Given the description of an element on the screen output the (x, y) to click on. 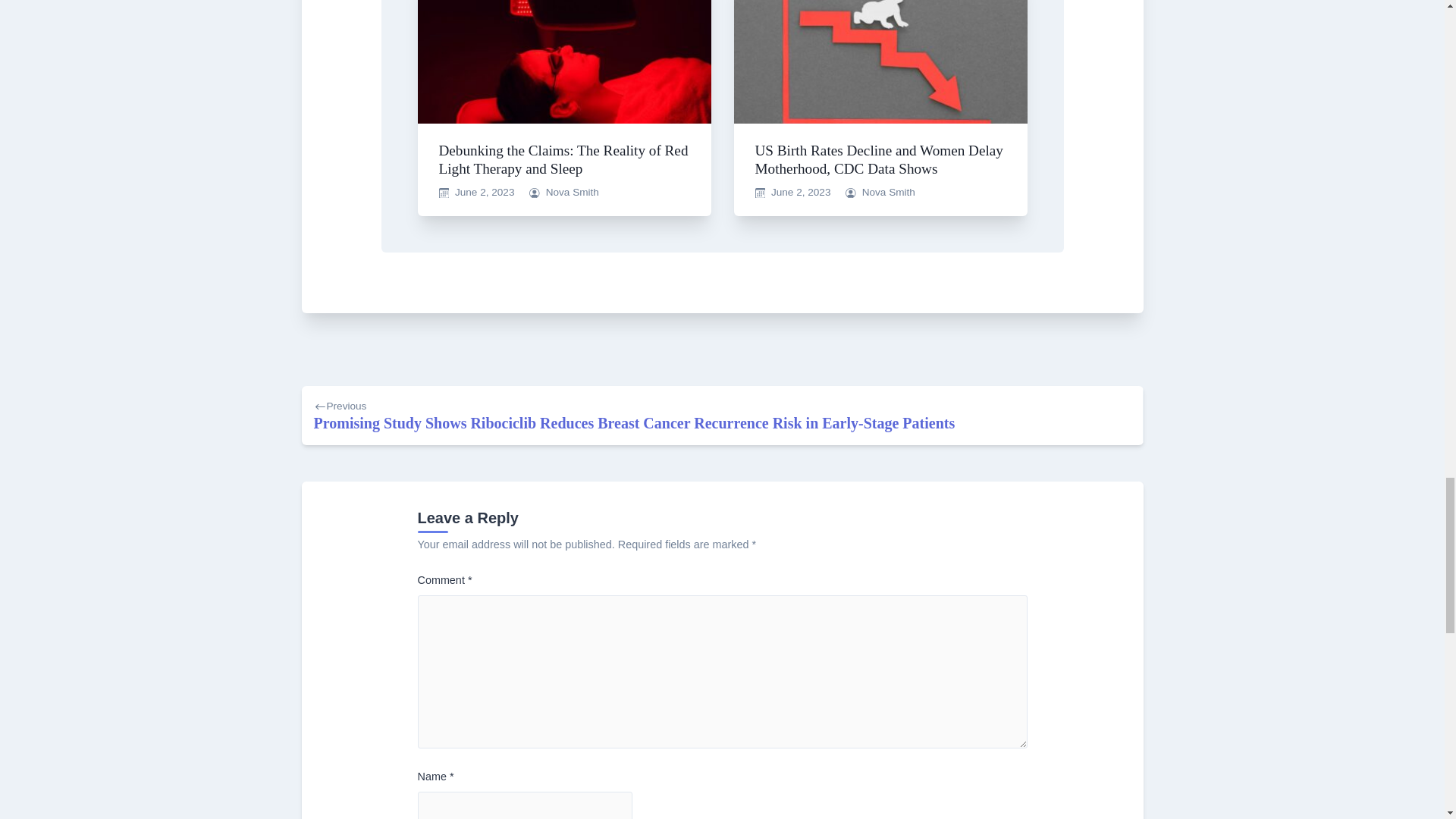
Nova Smith (888, 192)
June 2, 2023 (801, 192)
June 2, 2023 (484, 192)
Nova Smith (572, 192)
